Given the description of an element on the screen output the (x, y) to click on. 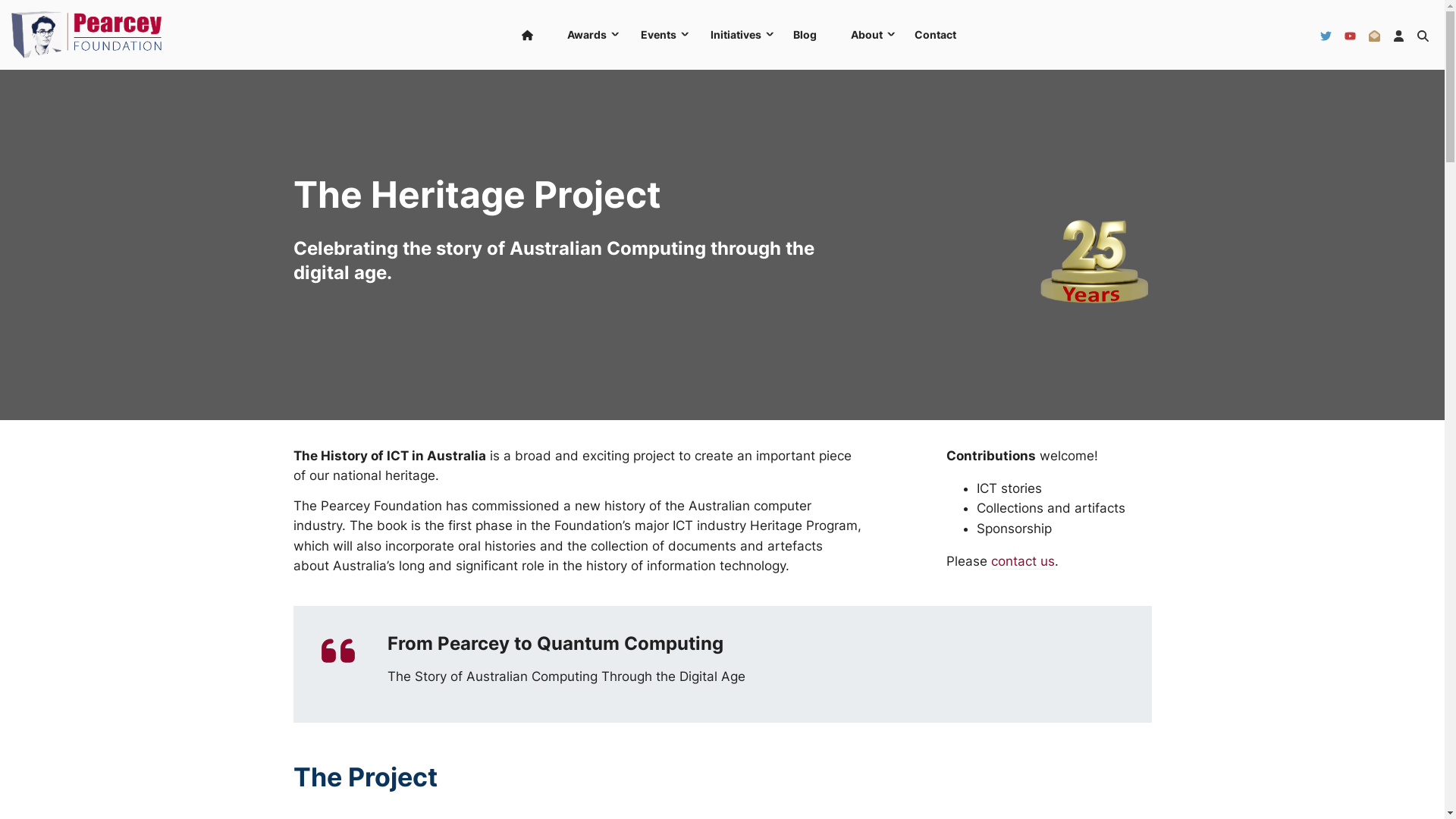
Initiatives Element type: text (734, 34)
YouTube Element type: hover (1349, 34)
contact us Element type: text (1022, 560)
Search Element type: hover (1422, 34)
About Element type: text (865, 34)
Email Element type: hover (1374, 34)
Contact Element type: text (935, 34)
Twitter Element type: hover (1325, 34)
Awards Element type: text (585, 34)
Profile Element type: hover (1398, 34)
Events Element type: text (657, 34)
Blog Element type: text (804, 34)
